Given the description of an element on the screen output the (x, y) to click on. 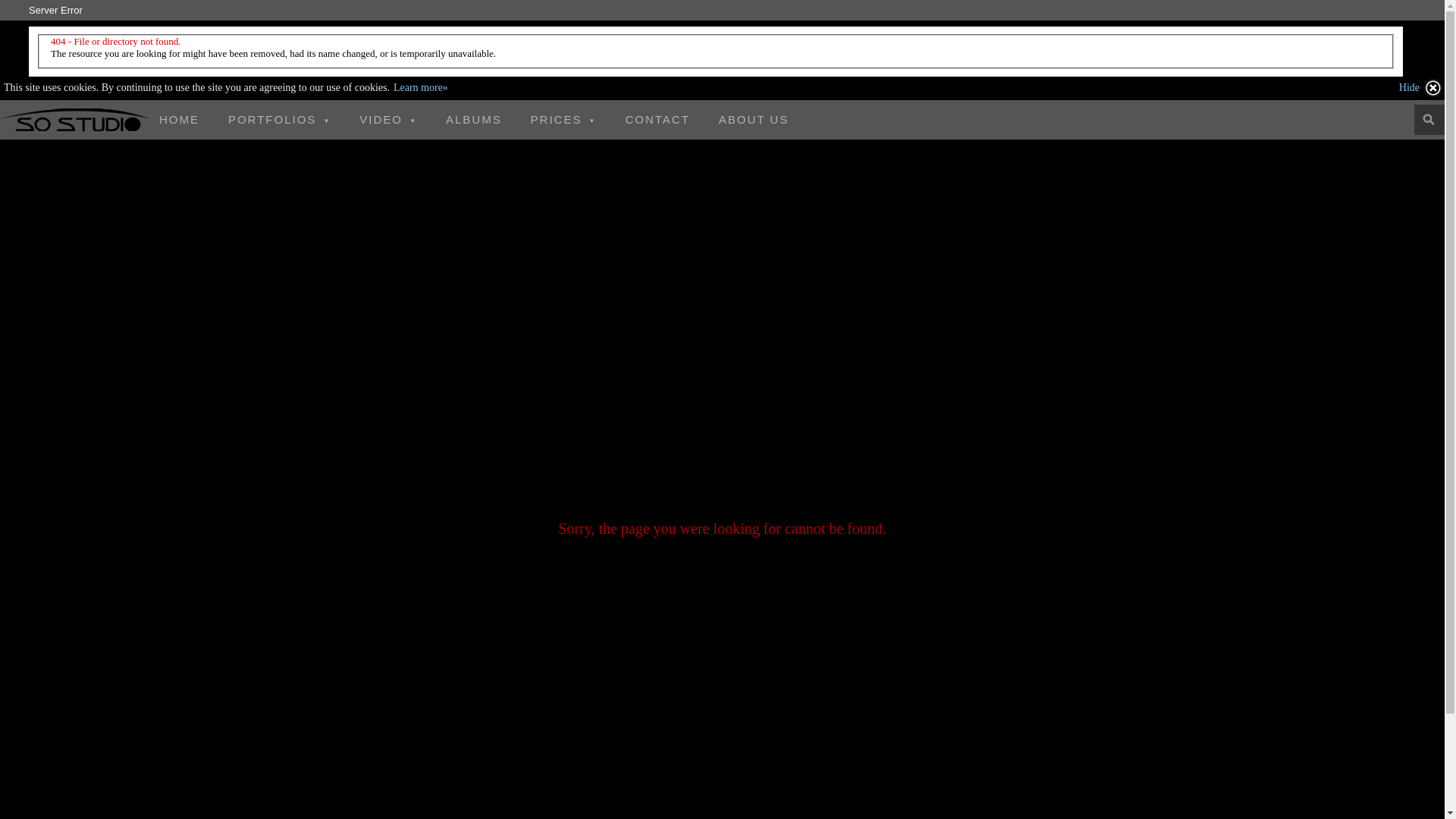
HOME Element type: text (179, 119)
ABOUT US Element type: text (753, 119)
Hide Element type: text (1420, 87)
ALBUMS Element type: text (473, 119)
CONTACT Element type: text (656, 119)
